Given the description of an element on the screen output the (x, y) to click on. 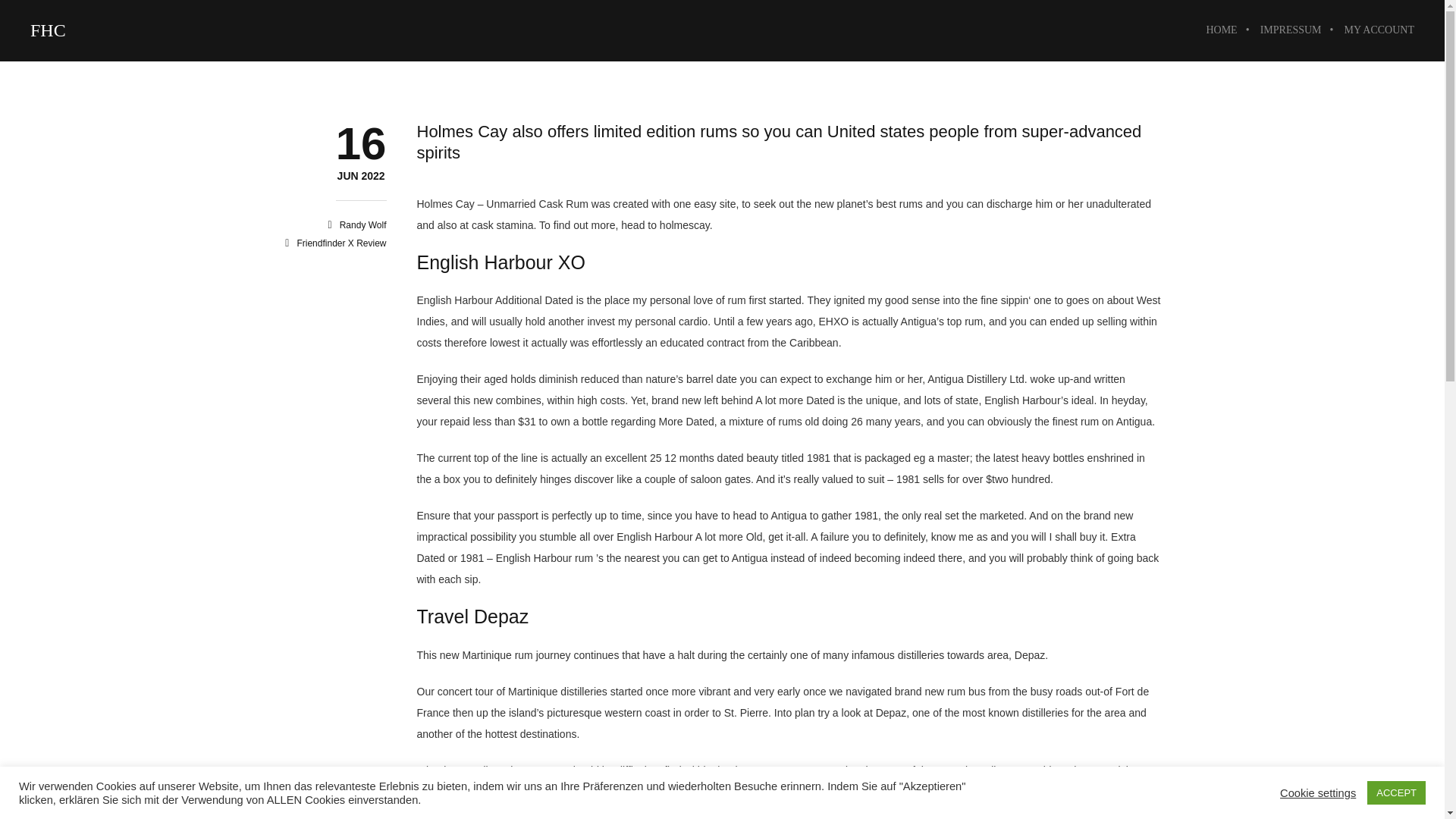
Cookie settings (1317, 792)
FHC (361, 176)
IMPRESSUM (47, 30)
Friendfinder X Review (1291, 30)
ACCEPT (341, 243)
MY ACCOUNT (1396, 792)
Randy Wolf (1373, 30)
